Given the description of an element on the screen output the (x, y) to click on. 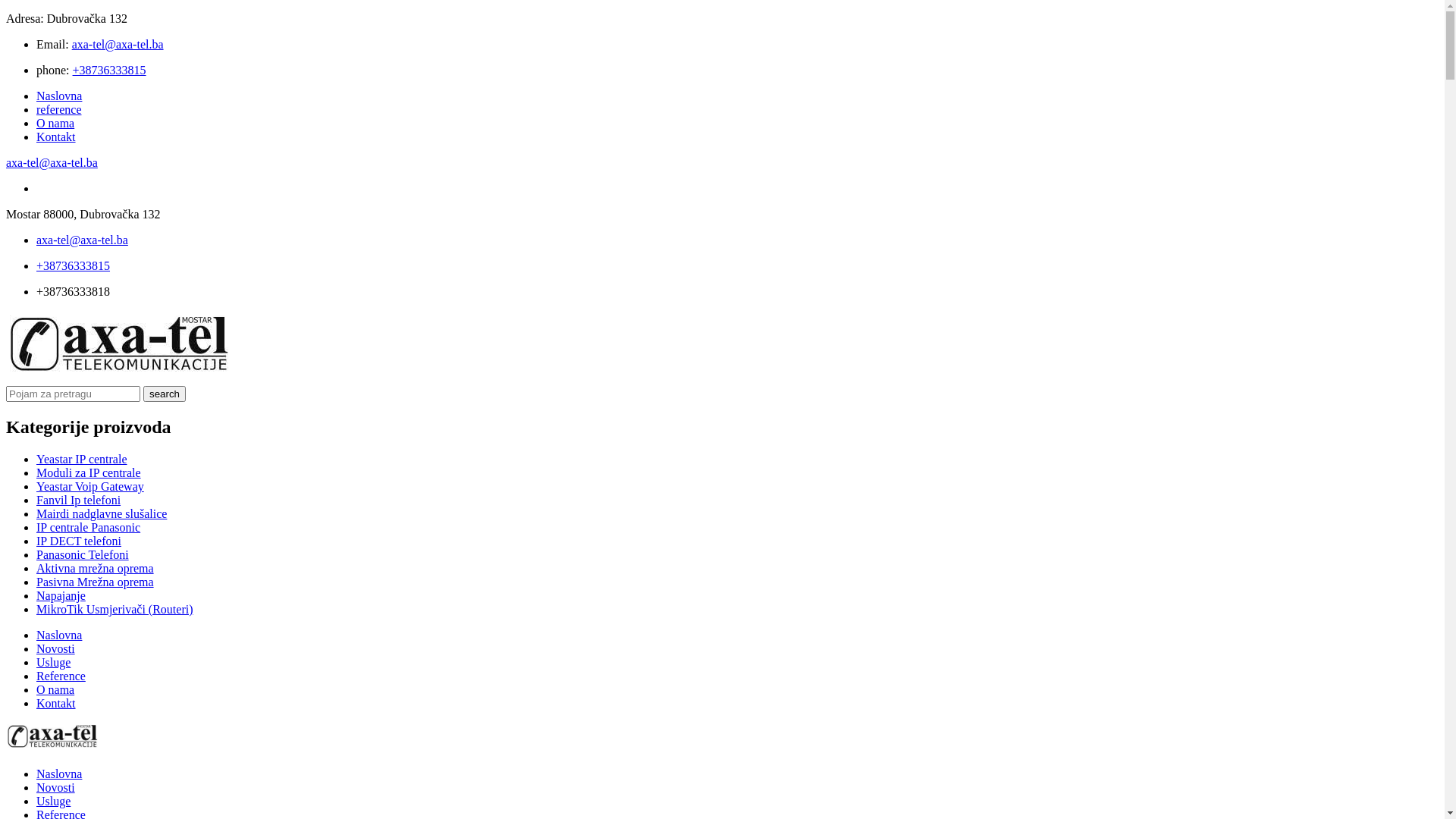
Kontakt Element type: text (55, 702)
axa-tel@axa-tel.ba Element type: text (51, 162)
O nama Element type: text (55, 689)
Fanvil Ip telefoni Element type: text (78, 499)
Novosti Element type: text (55, 648)
Moduli za IP centrale Element type: text (88, 472)
Naslovna Element type: text (58, 773)
Yeastar IP centrale Element type: text (81, 458)
reference Element type: text (58, 109)
Naslovna Element type: text (58, 95)
Kontakt Element type: text (55, 136)
+38736333815 Element type: text (72, 265)
Naslovna Element type: text (58, 634)
IP centrale Panasonic Element type: text (88, 526)
search Element type: text (164, 393)
Reference Element type: text (60, 675)
Panasonic Telefoni Element type: text (82, 554)
Yeastar Voip Gateway Element type: text (90, 486)
Usluge Element type: text (53, 800)
axa-tel@axa-tel.ba Element type: text (82, 239)
+38736333815 Element type: text (109, 69)
Novosti Element type: text (55, 787)
O nama Element type: text (55, 122)
IP DECT telefoni Element type: text (78, 540)
+38736333818 Element type: text (72, 291)
Napajanje Element type: text (60, 595)
axa-tel@axa-tel.ba Element type: text (117, 43)
Usluge Element type: text (53, 661)
